Given the description of an element on the screen output the (x, y) to click on. 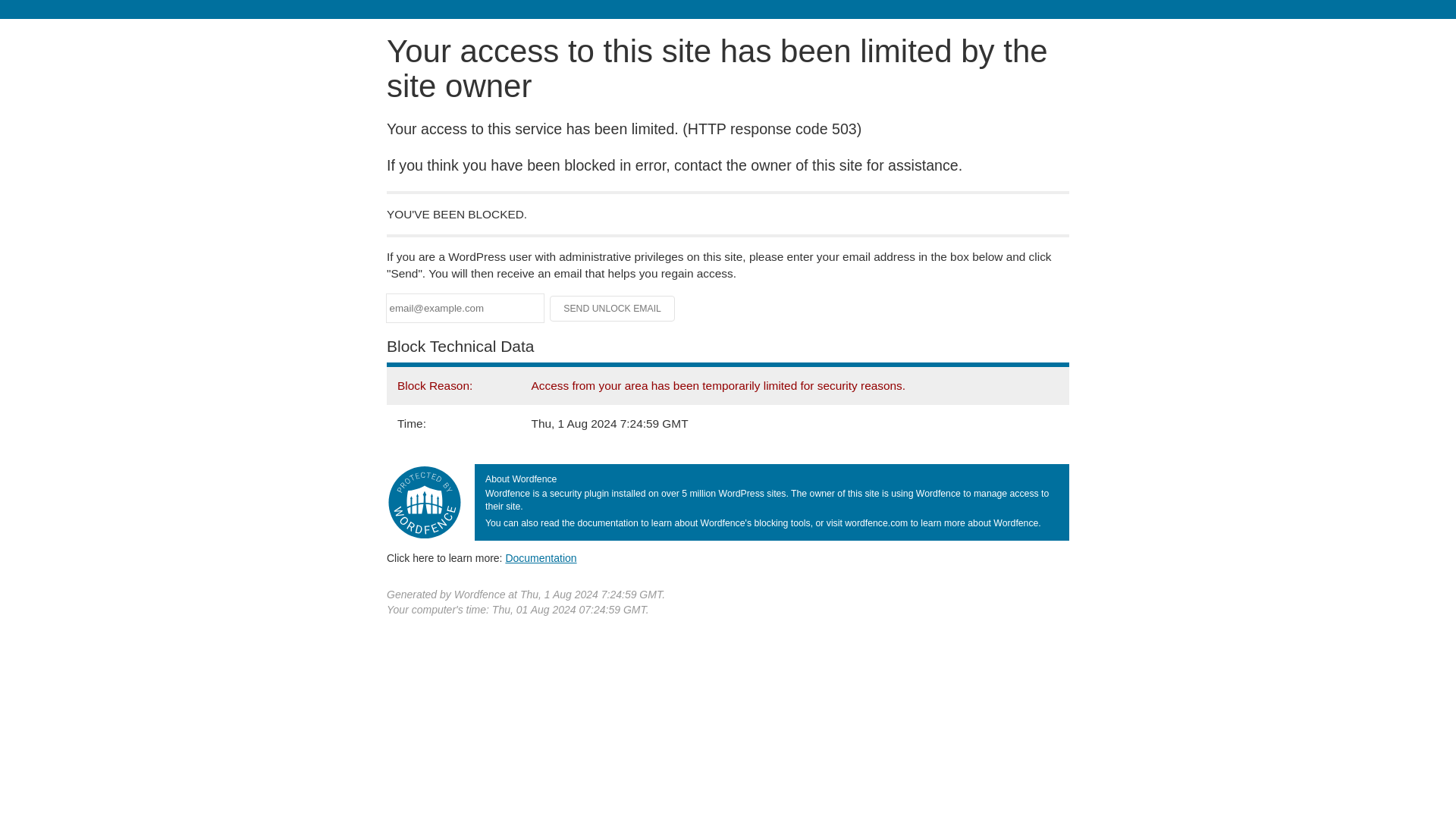
Documentation (540, 558)
Send Unlock Email (612, 308)
Send Unlock Email (612, 308)
